Given the description of an element on the screen output the (x, y) to click on. 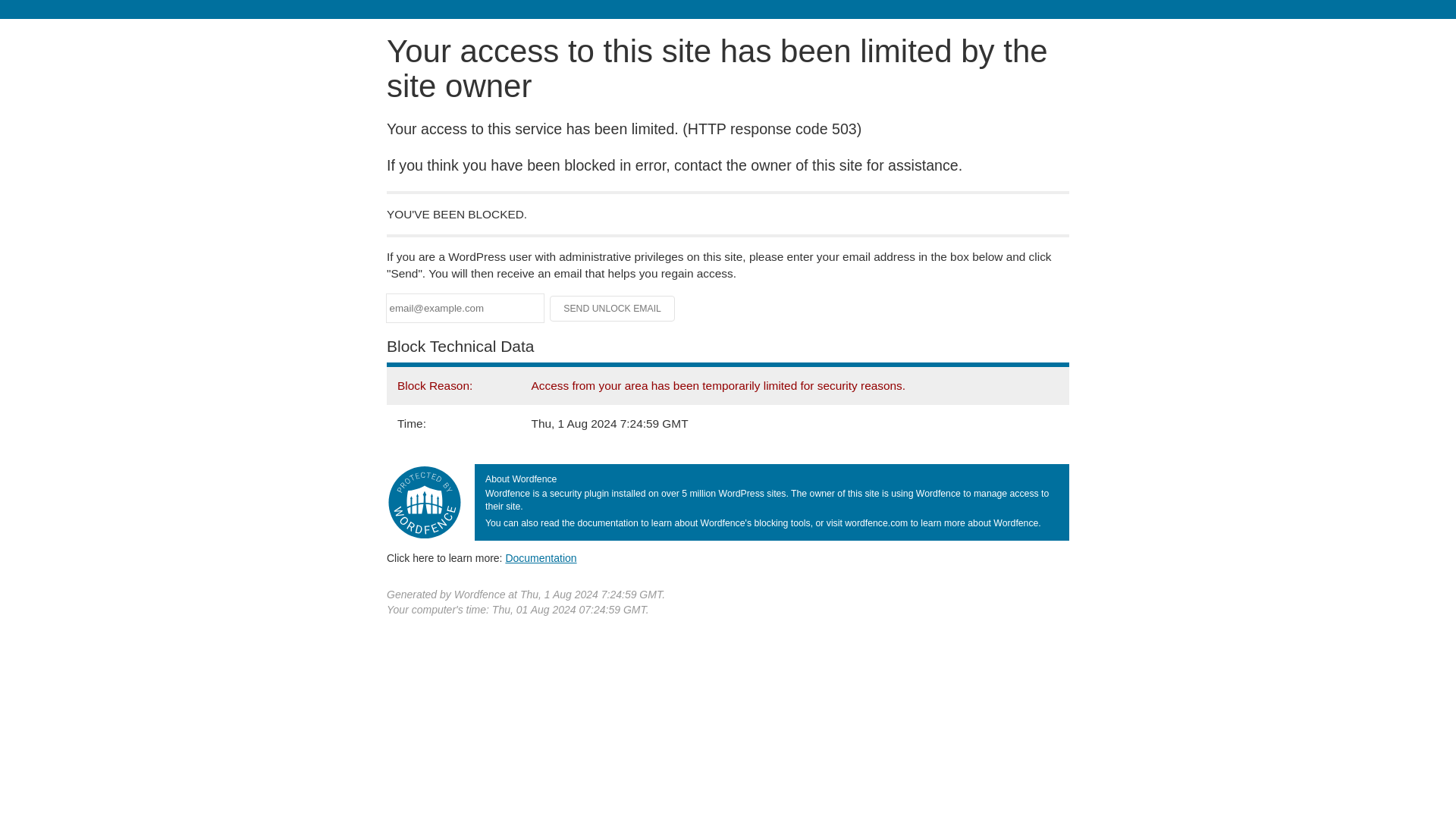
Documentation (540, 558)
Send Unlock Email (612, 308)
Send Unlock Email (612, 308)
